Given the description of an element on the screen output the (x, y) to click on. 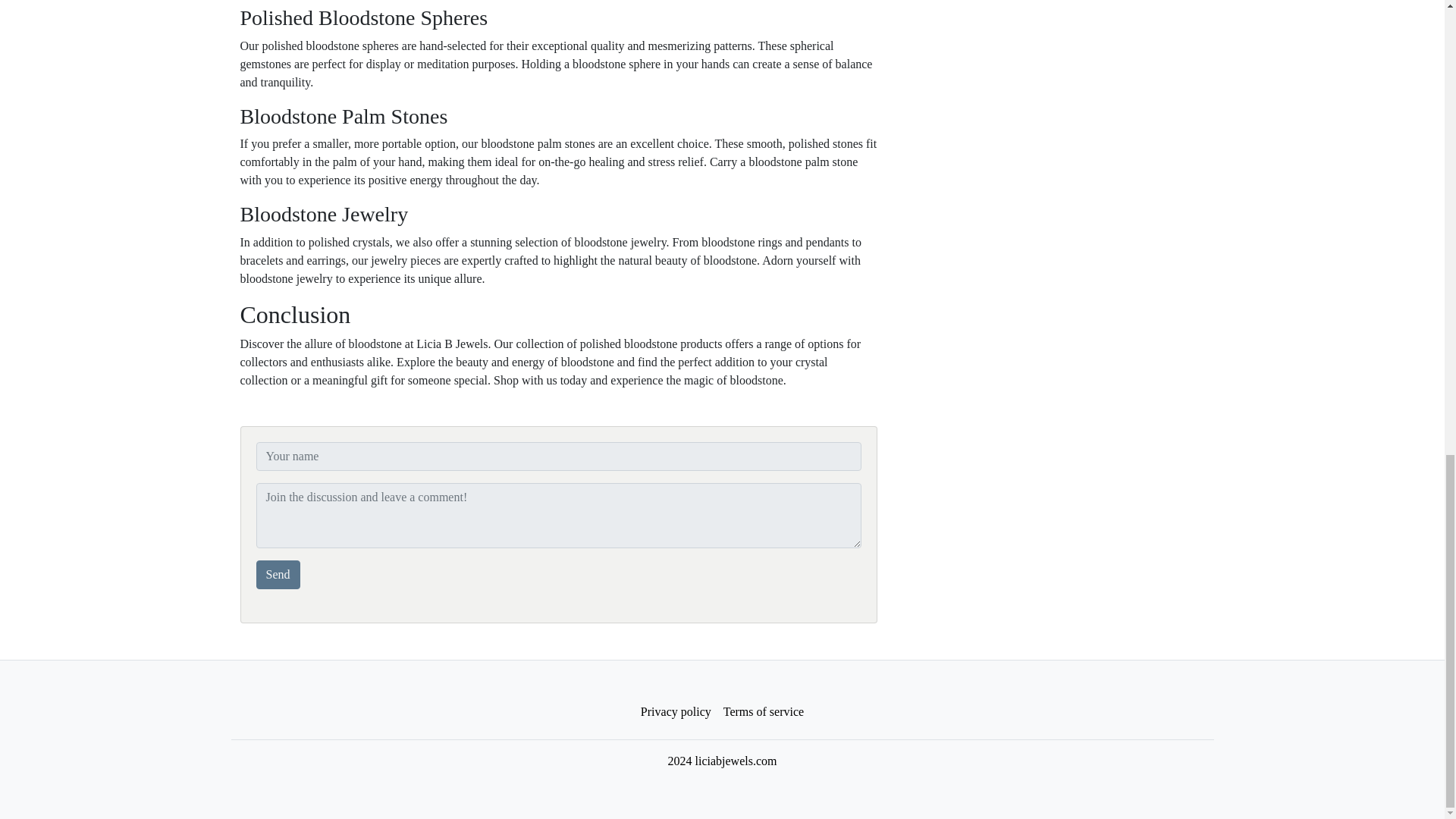
Send (277, 574)
Send (277, 574)
Terms of service (763, 711)
Privacy policy (675, 711)
